Given the description of an element on the screen output the (x, y) to click on. 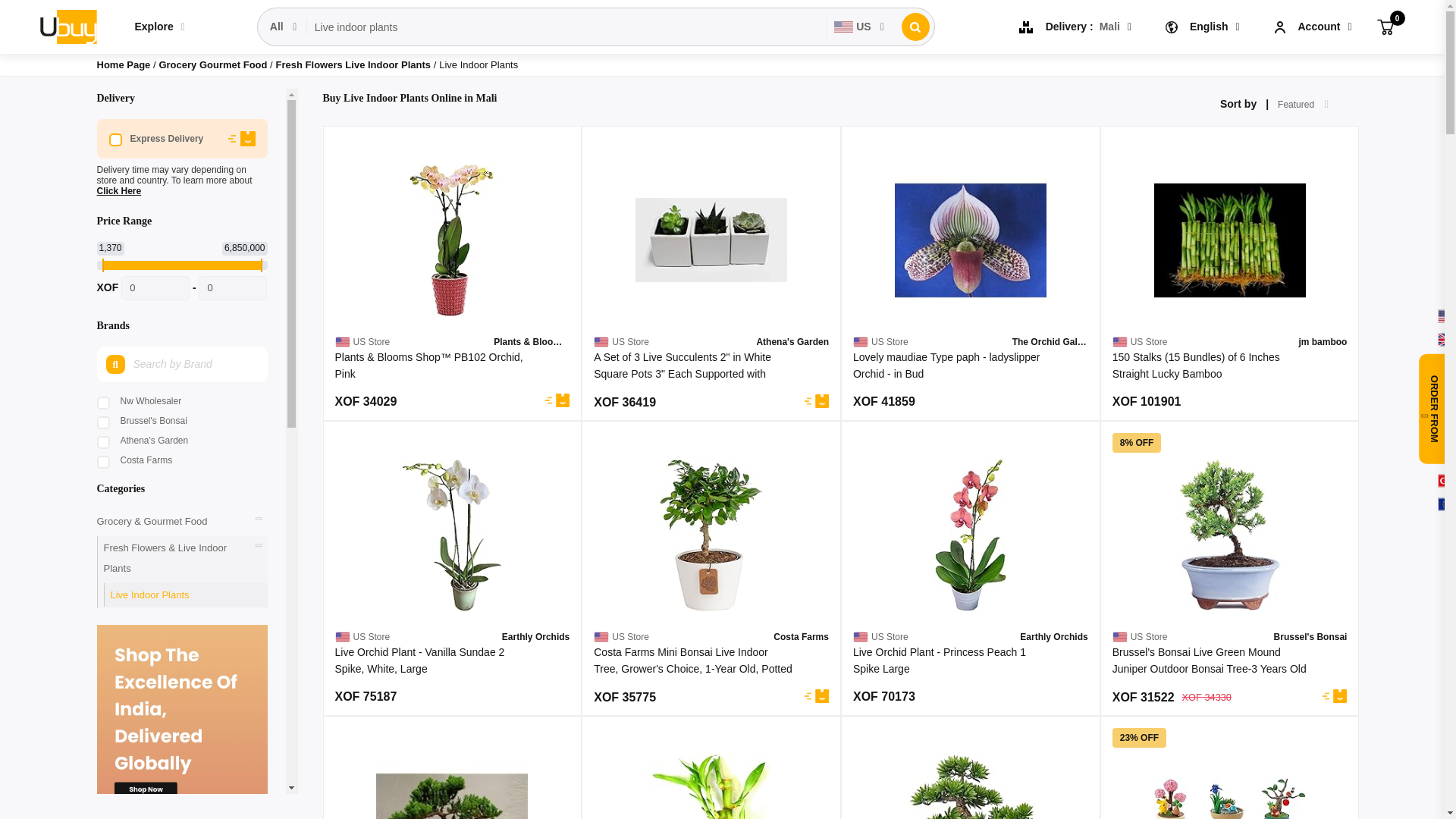
Cart (1385, 26)
All (283, 26)
Live indoor plants (566, 26)
Live indoor plants (566, 26)
US (860, 26)
0 (154, 288)
Grocery Gourmet Food (213, 64)
0 (1385, 26)
Home Page (124, 64)
Home Page (124, 64)
0 (232, 288)
Grocery Gourmet Food (213, 64)
Ubuy (67, 26)
